Given the description of an element on the screen output the (x, y) to click on. 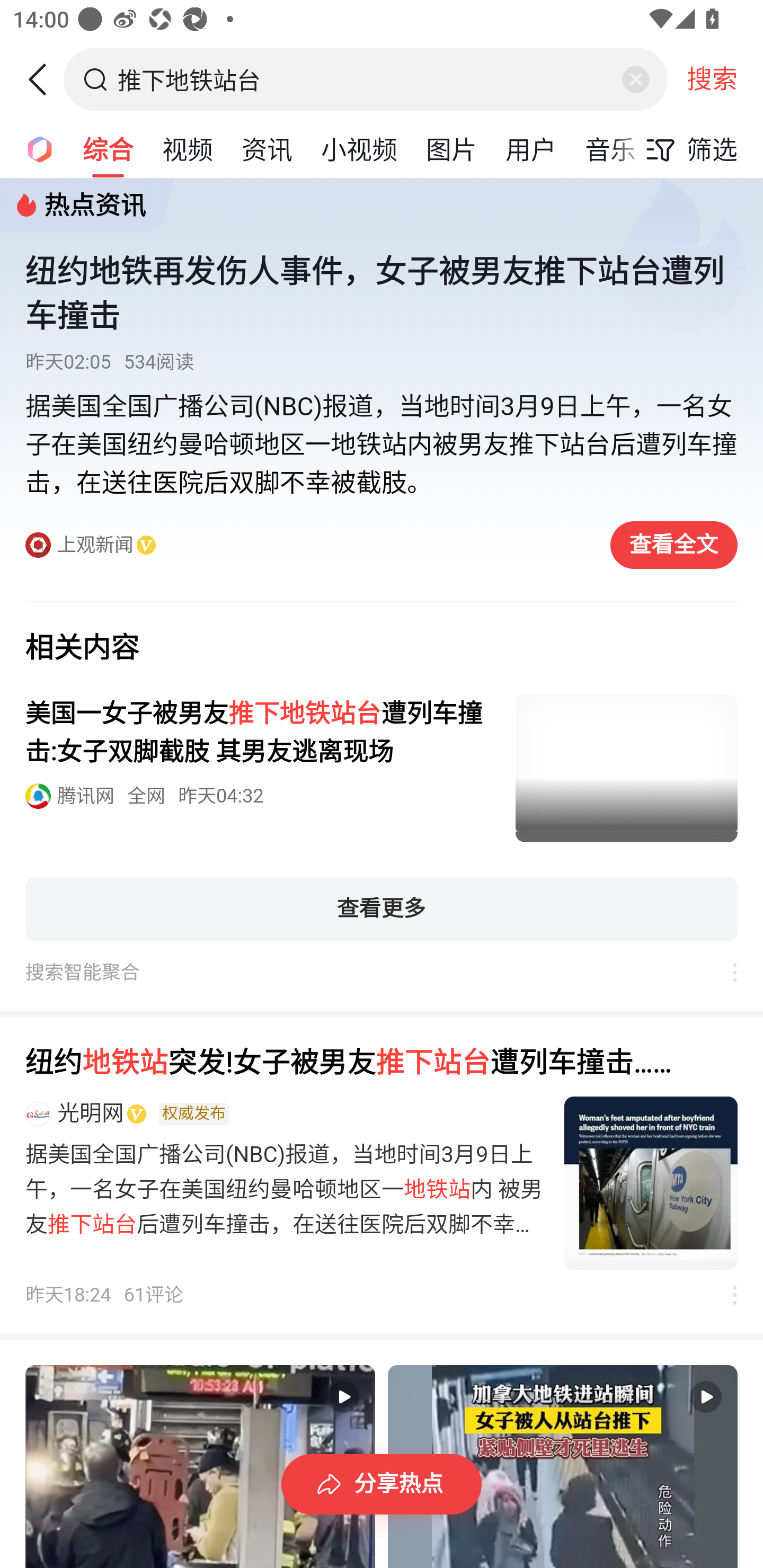
搜索框，推下地铁站台 (366, 79)
搜索 (711, 79)
返回 (44, 79)
清除 (635, 79)
视频 (187, 148)
资讯 (266, 148)
小视频 (359, 148)
图片 (451, 148)
用户 (530, 148)
音乐 (610, 148)
筛选 (686, 149)
AI问答 (34, 148)
昨天02:05534阅读 (381, 361)
查看全文 (673, 544)
上观新闻 (308, 545)
美国一女子被男友推下地铁站台遭列车撞击:女子双脚截肢 其男友逃离现场 来源: 腾讯网 (381, 768)
查看更多 (381, 909)
举报反馈 (724, 972)
昨天18:24 61评论 (104, 1295)
举报反馈 (724, 1295)
